Given the description of an element on the screen output the (x, y) to click on. 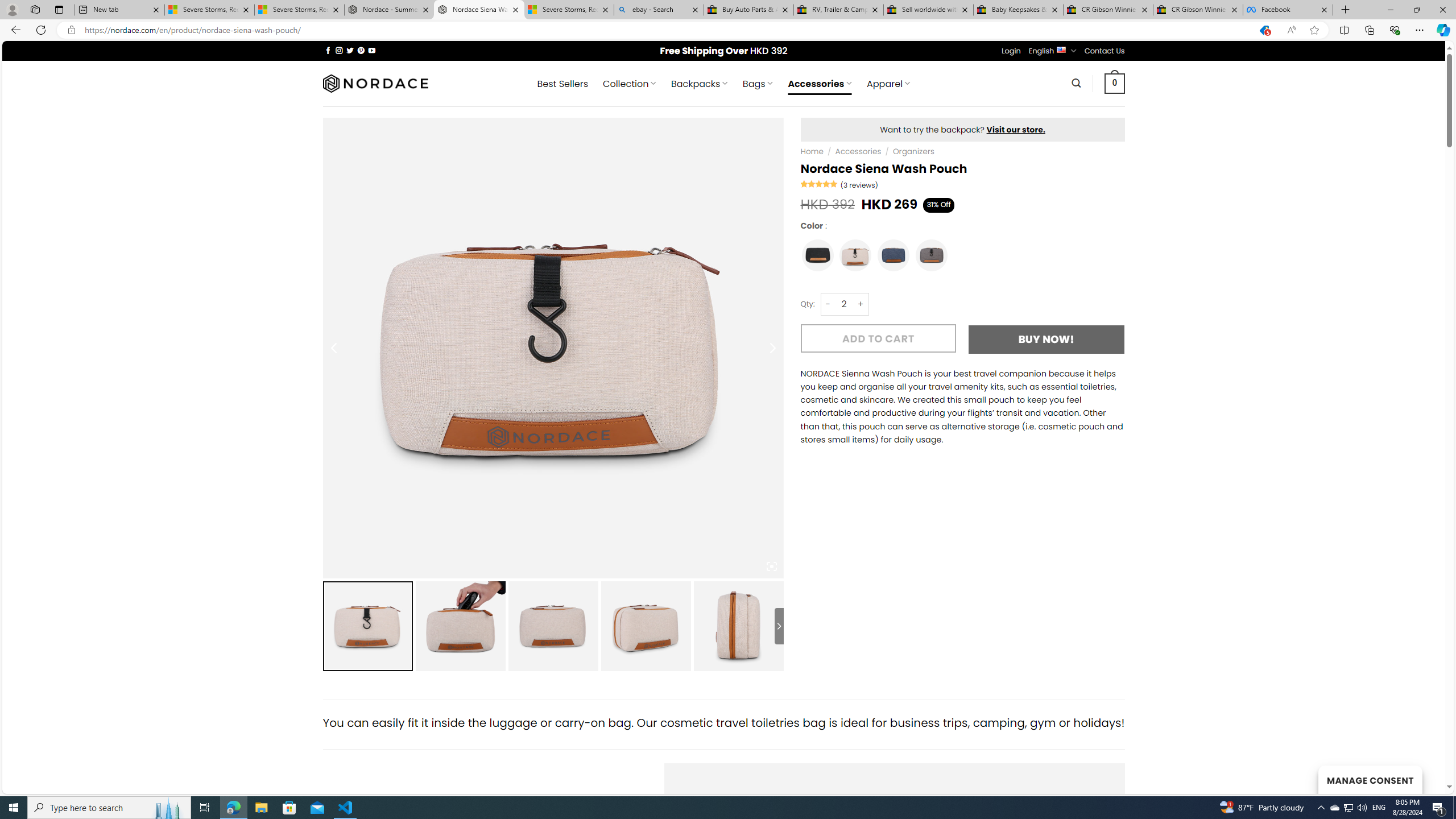
Nordace Siena Wash Pouch (478, 9)
App bar (728, 29)
MANAGE CONSENT (1369, 779)
Read aloud this page (Ctrl+Shift+U) (1291, 29)
  0   (1115, 83)
Contact Us (1104, 50)
Facebook (1287, 9)
RV, Trailer & Camper Steps & Ladders for sale | eBay (838, 9)
  Best Sellers (562, 83)
Buy Auto Parts & Accessories | eBay (747, 9)
Rated 5.00 out of 5 (819, 183)
